Given the description of an element on the screen output the (x, y) to click on. 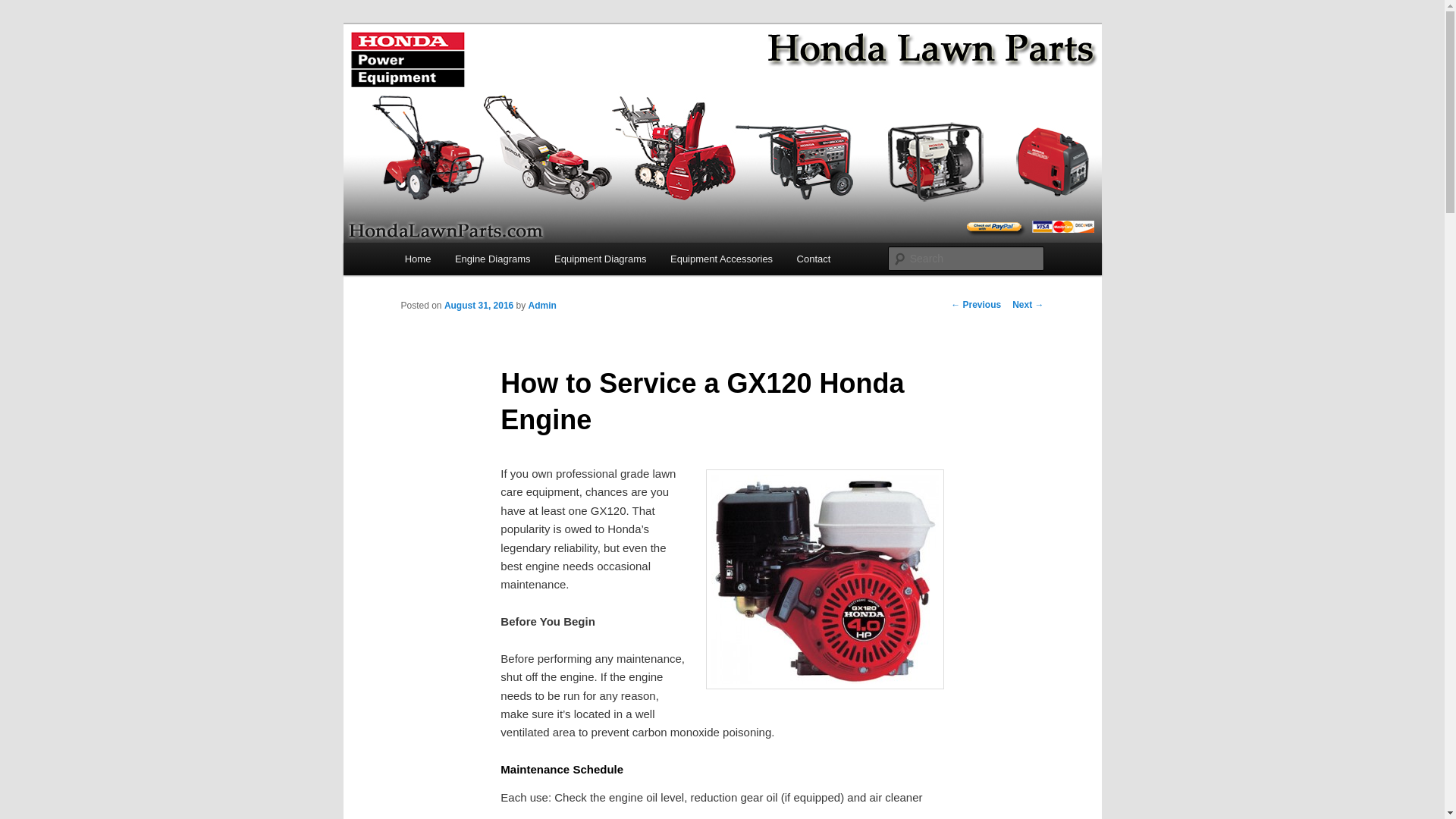
1:50 pm (478, 305)
Search (24, 8)
Engine Diagrams (491, 258)
Equipment Accessories (721, 258)
Contact (813, 258)
View all posts by Admin (542, 305)
Honda Lawn Parts Blog (528, 78)
Admin (542, 305)
Equipment Diagrams (599, 258)
Home (417, 258)
August 31, 2016 (478, 305)
